Given the description of an element on the screen output the (x, y) to click on. 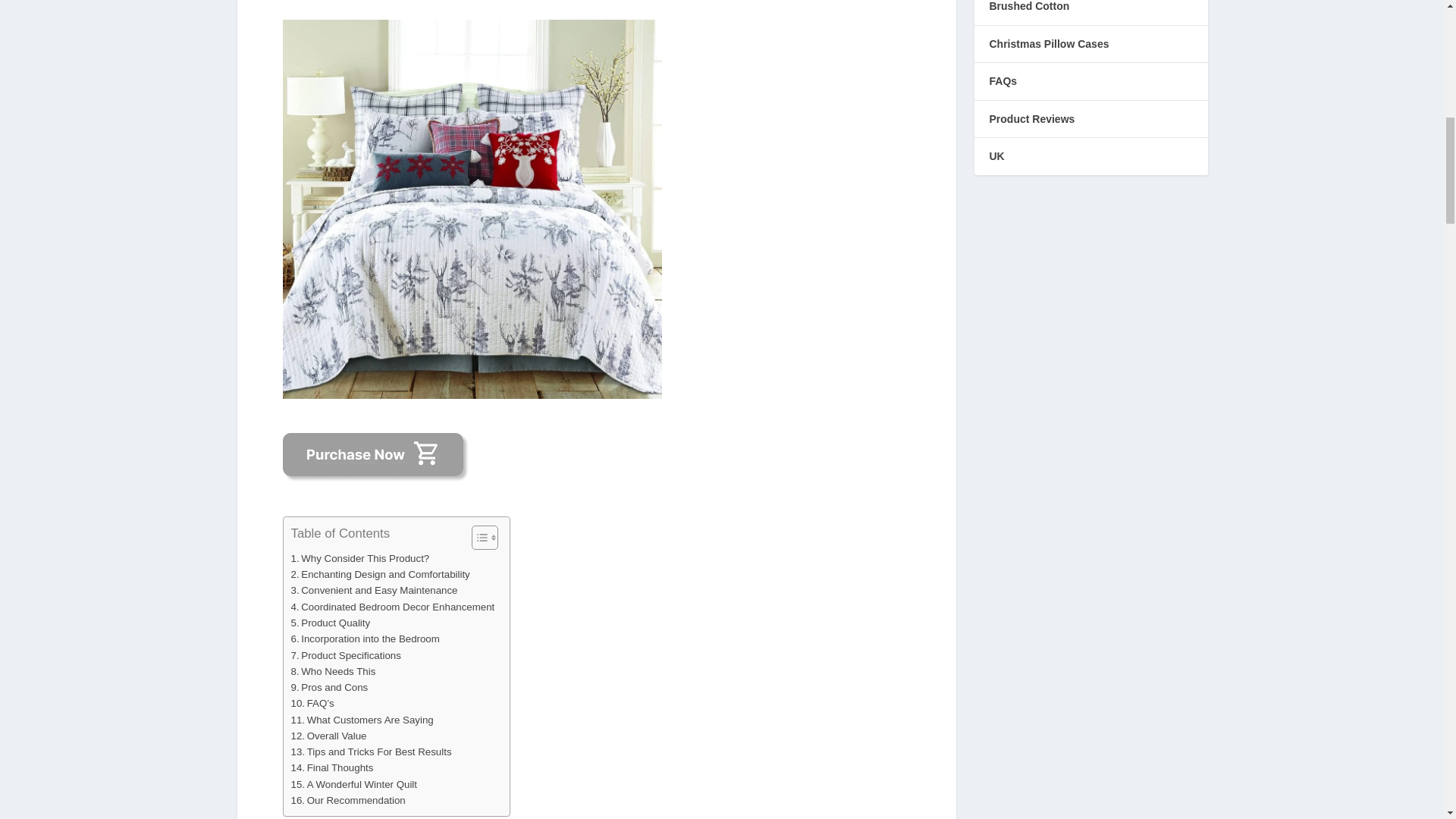
Product Quality (331, 622)
Incorporation into the Bedroom (365, 638)
Who Needs This (333, 671)
Enchanting Design and Comfortability (380, 574)
Who Needs This (333, 671)
Product Specifications (346, 655)
What Customers Are Saying (362, 719)
Why Consider This Product? (360, 558)
Pros and Cons (329, 687)
Convenient and Easy Maintenance (374, 590)
Enchanting Design and Comfortability (380, 574)
Product Specifications (346, 655)
Why Consider This Product? (360, 558)
Convenient and Easy Maintenance (374, 590)
Product Quality (331, 622)
